Given the description of an element on the screen output the (x, y) to click on. 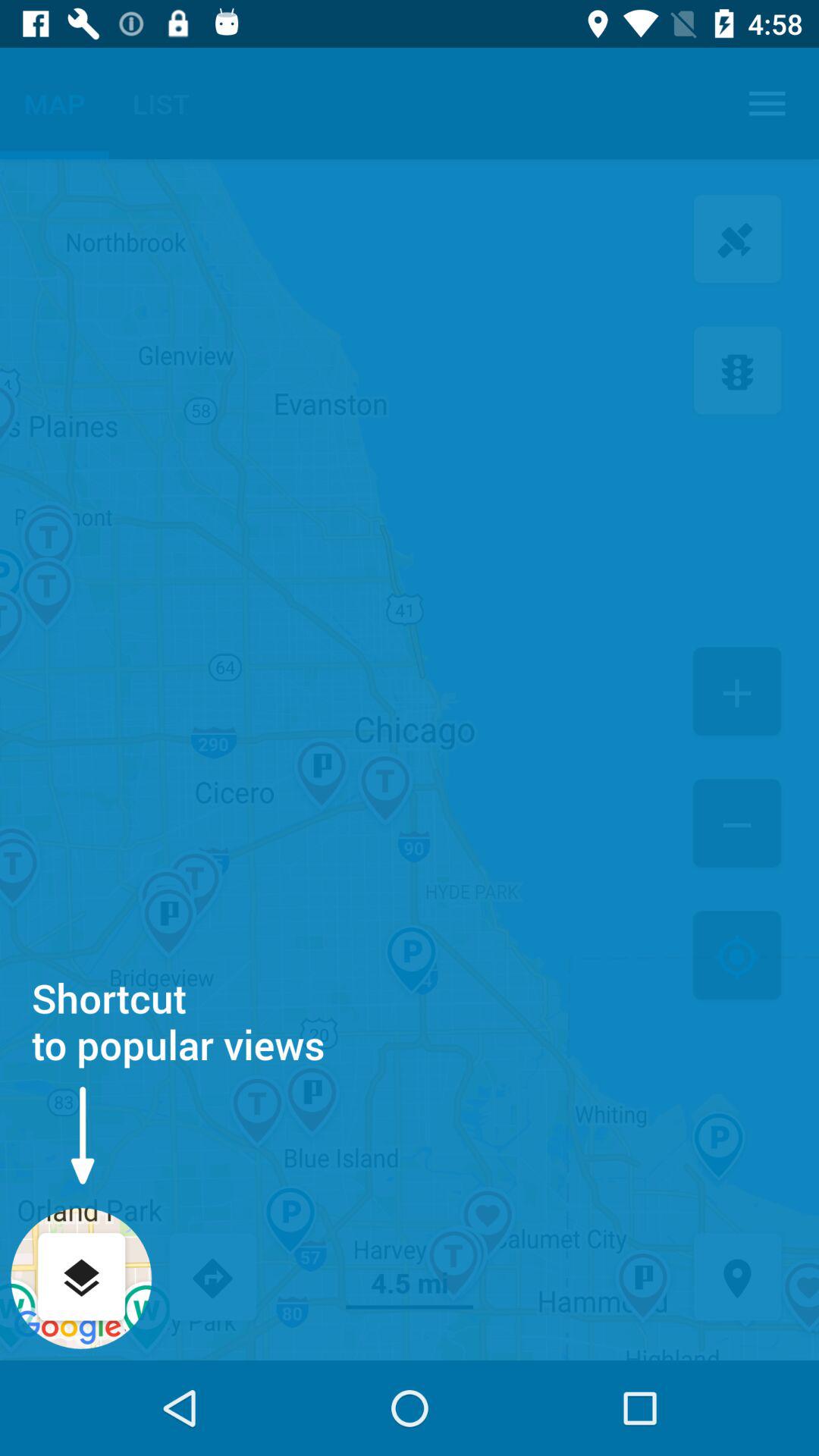
asking location (737, 1278)
